Given the description of an element on the screen output the (x, y) to click on. 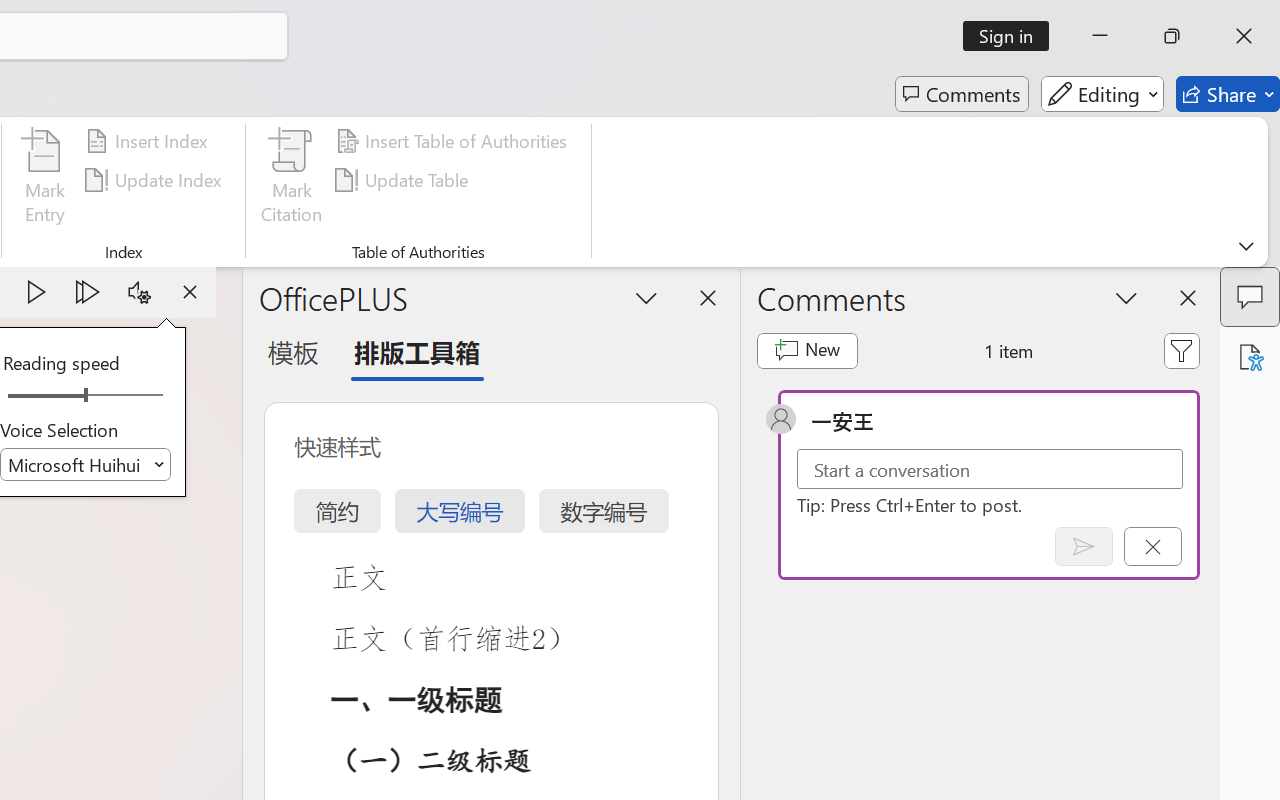
Mark Citation... (292, 179)
Cancel (1152, 546)
Settings (139, 292)
Update Table (404, 179)
Update Index (156, 179)
Filter (1181, 350)
